Given the description of an element on the screen output the (x, y) to click on. 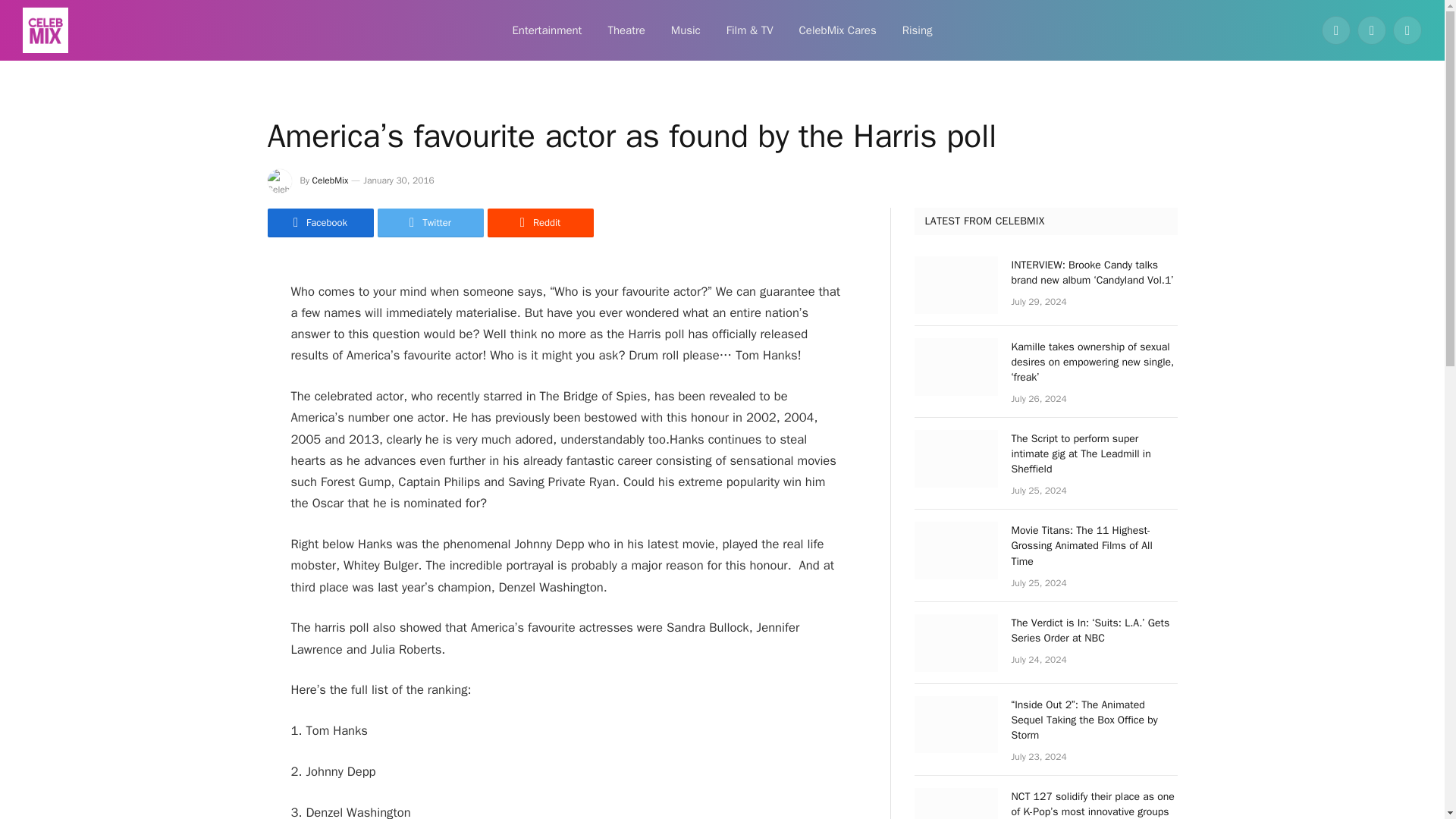
Music (685, 30)
Reddit (539, 222)
Facebook (319, 222)
Share on Facebook (319, 222)
Instagram (1407, 30)
Entertainment (546, 30)
Facebook (1336, 30)
Share on Reddit (539, 222)
Twitter (430, 222)
CelebMix Cares (837, 30)
Theatre (626, 30)
CelebMix (331, 180)
Rising (916, 30)
Posts by CelebMix (331, 180)
